Given the description of an element on the screen output the (x, y) to click on. 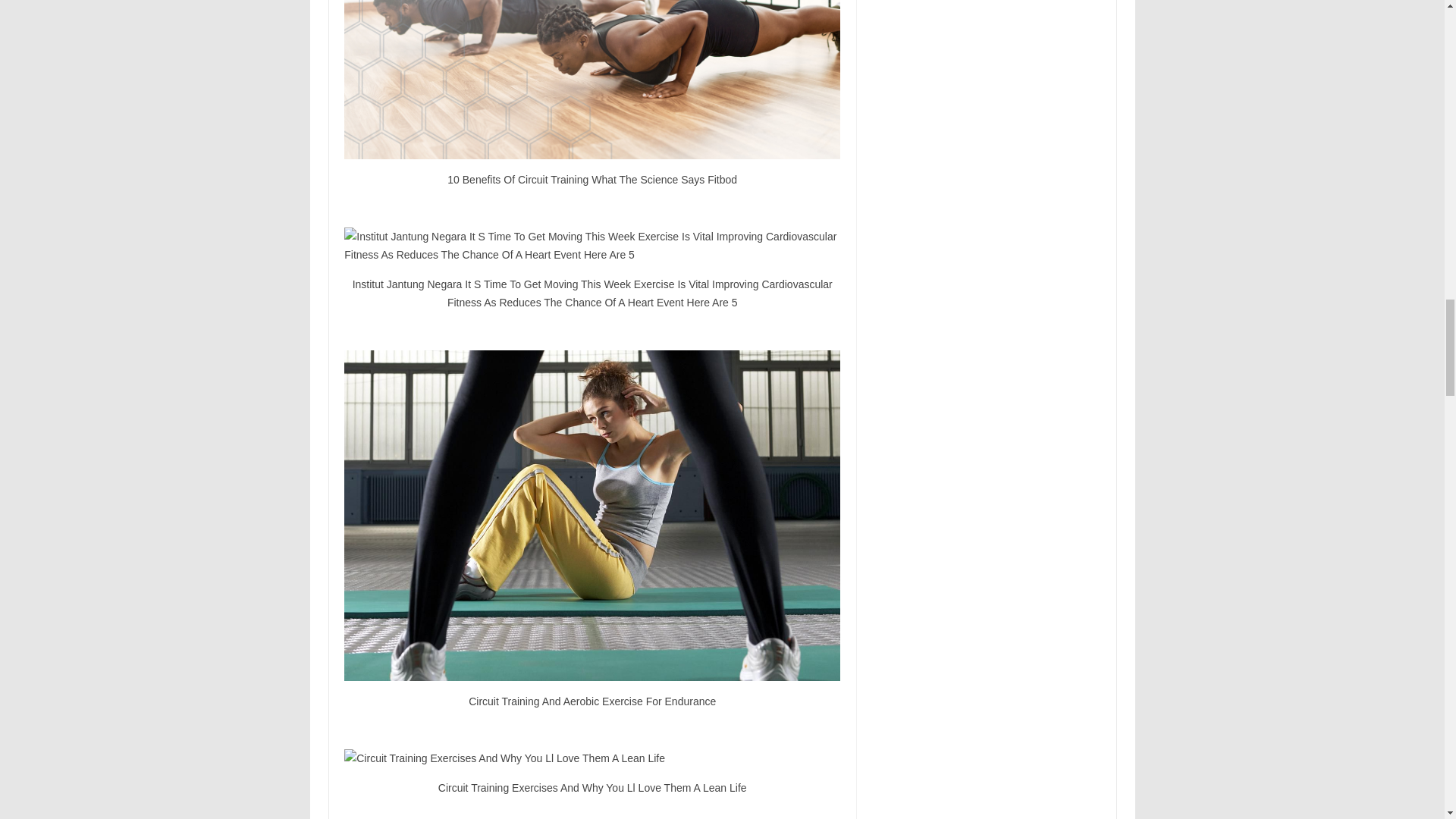
10 Benefits Of Circuit Training What The Science Says Fitbod (591, 79)
